Given the description of an element on the screen output the (x, y) to click on. 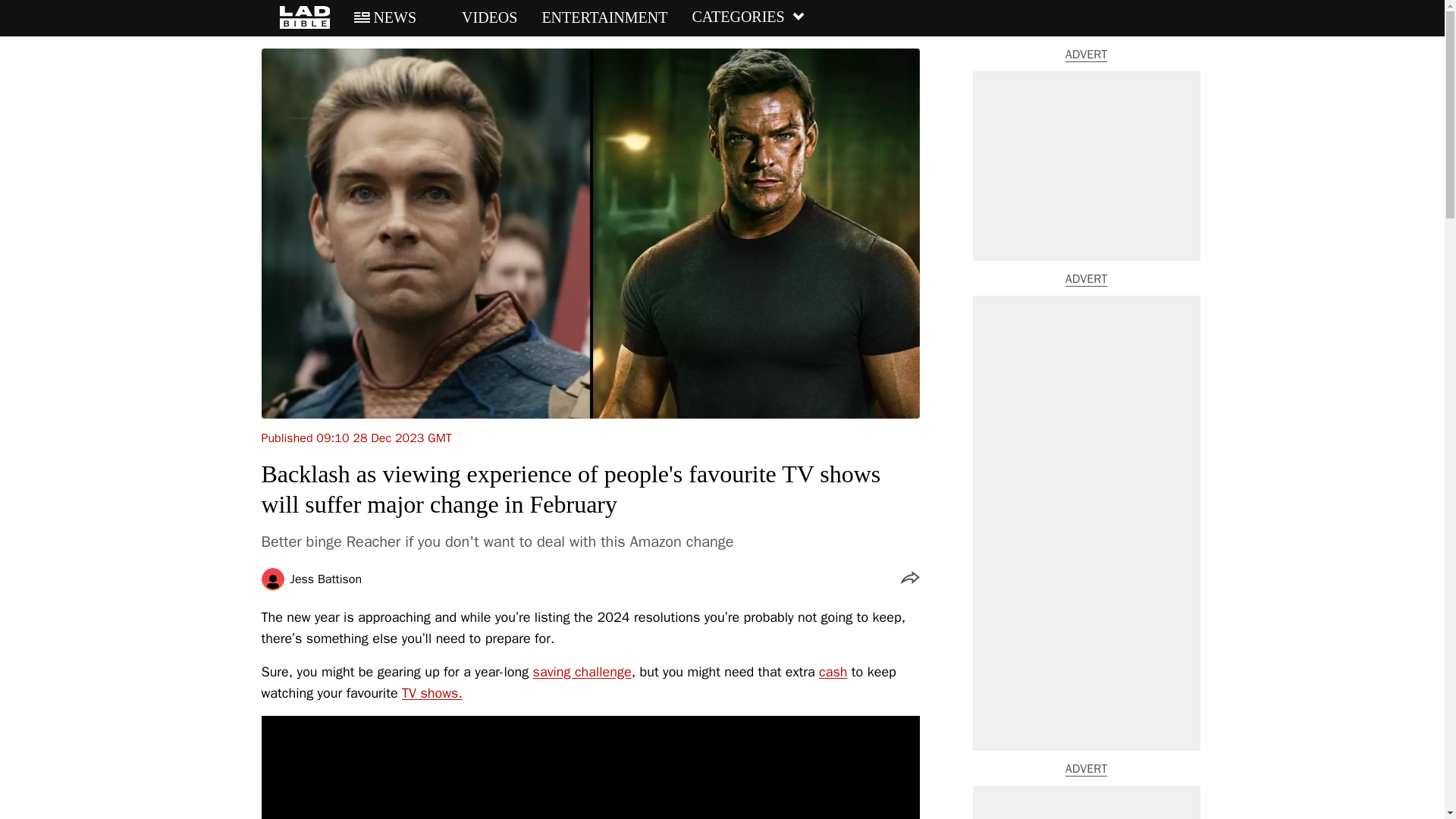
CATEGORIES (748, 17)
VIDEOS (478, 17)
NEWS (384, 17)
ENTERTAINMENT (603, 17)
